Given the description of an element on the screen output the (x, y) to click on. 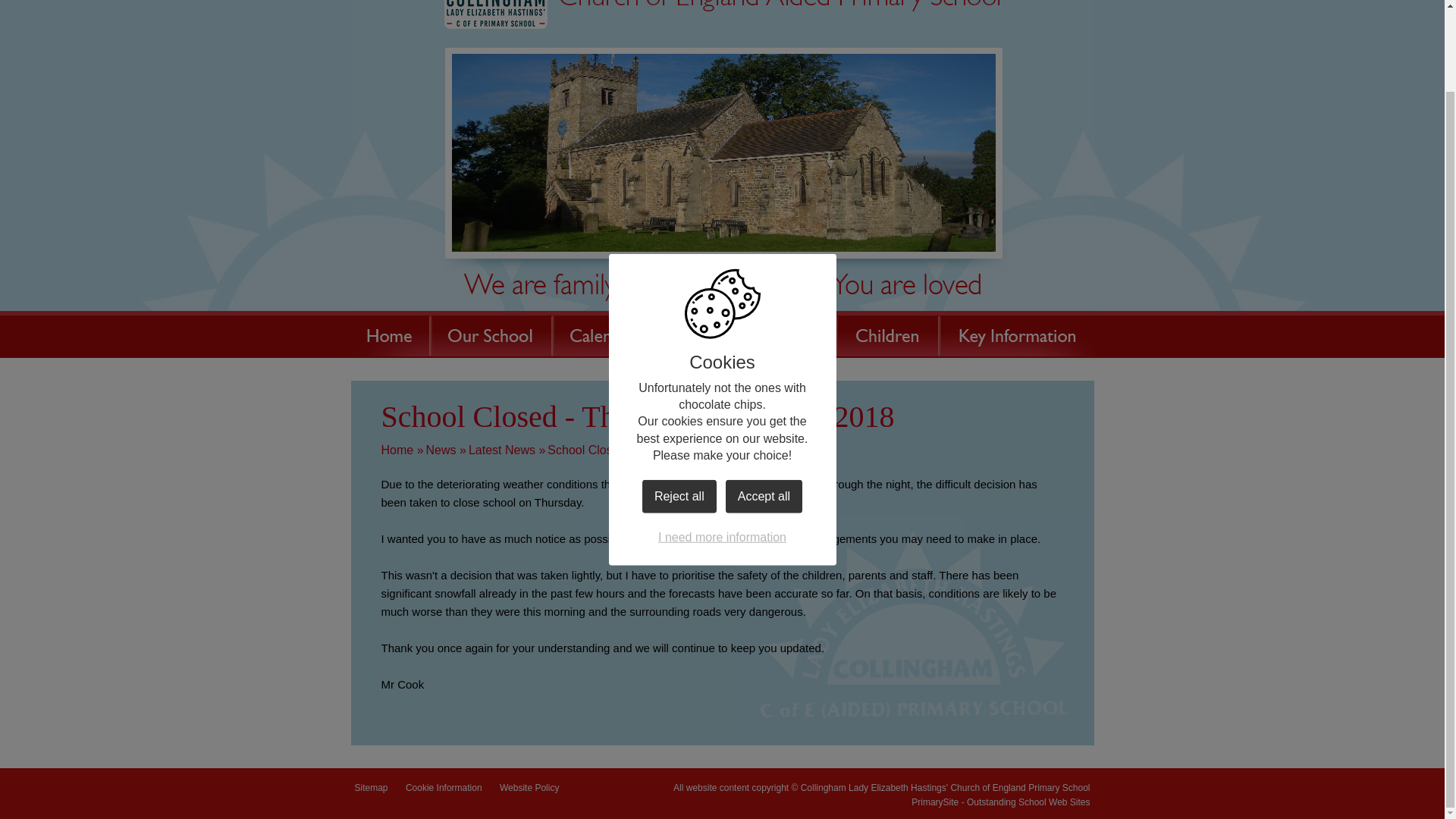
Home (389, 333)
Latest News (501, 449)
News (441, 449)
Home (396, 449)
Home Page (721, 14)
Our School (490, 333)
Home Page (721, 14)
School Closed - Thursday 1st March 2018 (660, 449)
